Given the description of an element on the screen output the (x, y) to click on. 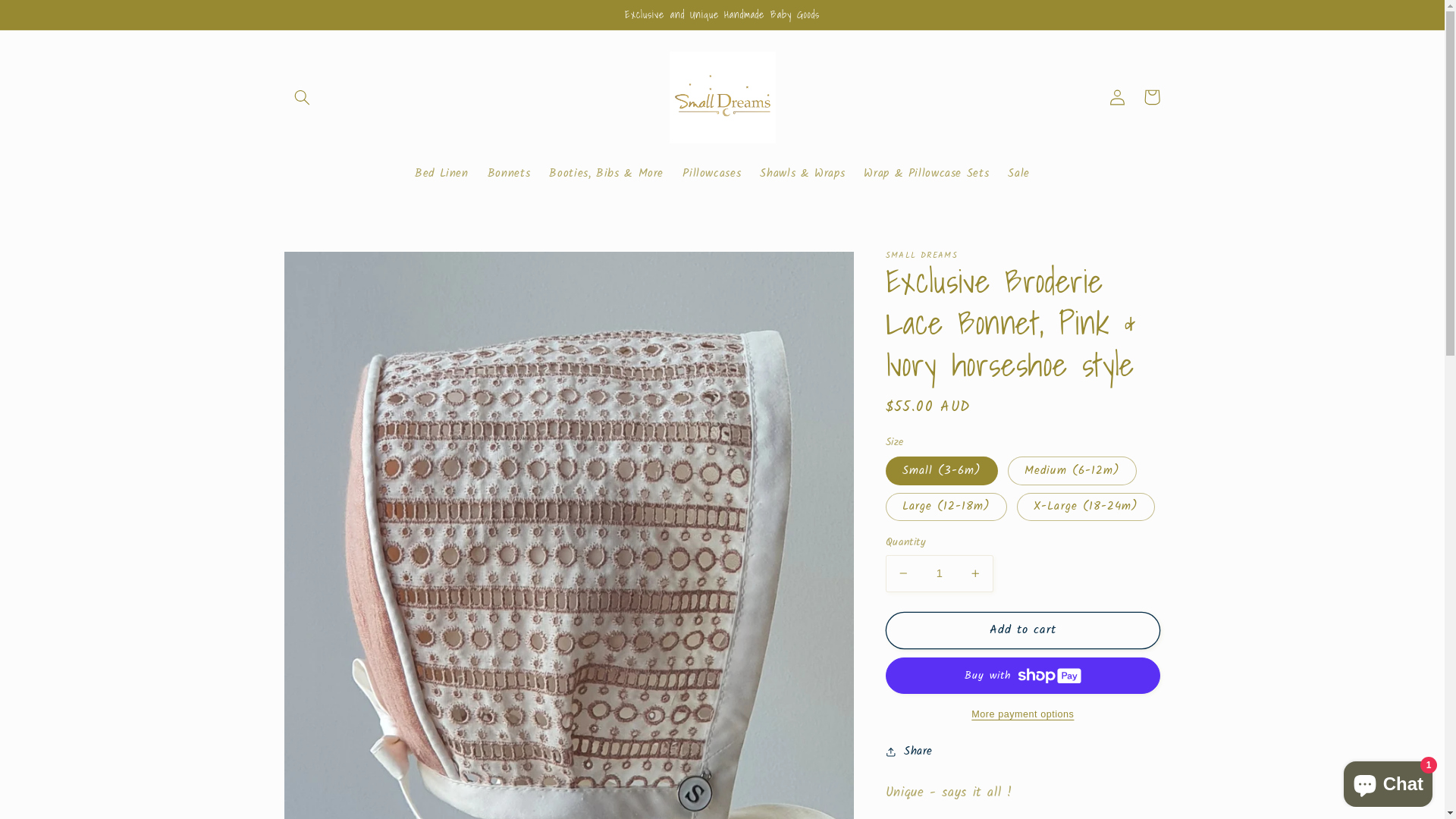
Bed Linen Element type: text (440, 174)
Add to cart Element type: text (1022, 630)
Skip to product information Element type: text (331, 269)
Sale Element type: text (1018, 174)
Bonnets Element type: text (508, 174)
Pillowcases Element type: text (711, 174)
Wrap & Pillowcase Sets Element type: text (926, 174)
Shopify online store chat Element type: hover (1388, 780)
Booties, Bibs & More Element type: text (606, 174)
More payment options Element type: text (1022, 714)
Log in Element type: text (1116, 96)
Cart Element type: text (1151, 96)
Shawls & Wraps Element type: text (802, 174)
